Given the description of an element on the screen output the (x, y) to click on. 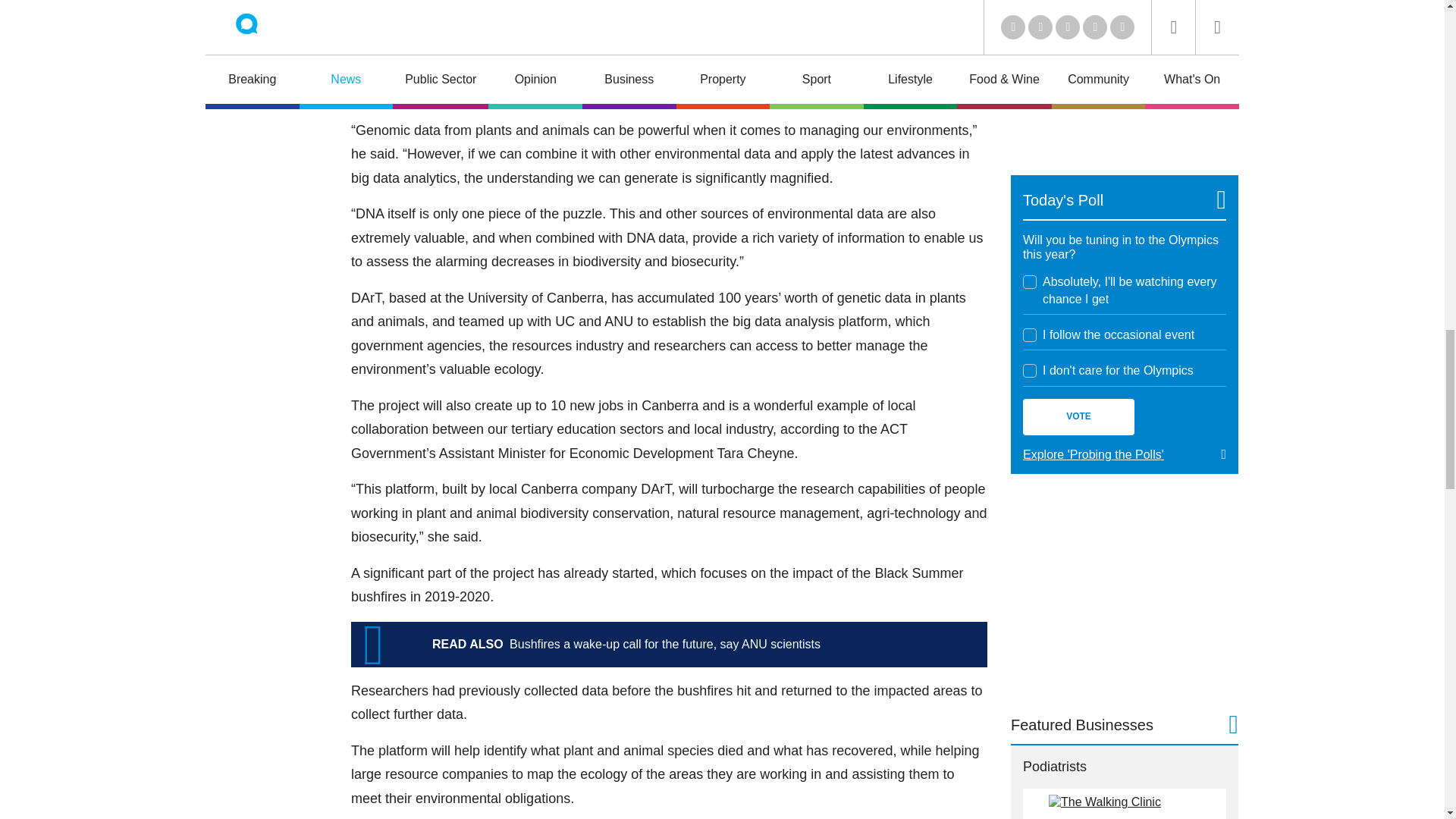
2043 (1029, 282)
Zango Sales (1124, 75)
   Vote    (1078, 416)
2045 (1029, 370)
2044 (1029, 335)
